Given the description of an element on the screen output the (x, y) to click on. 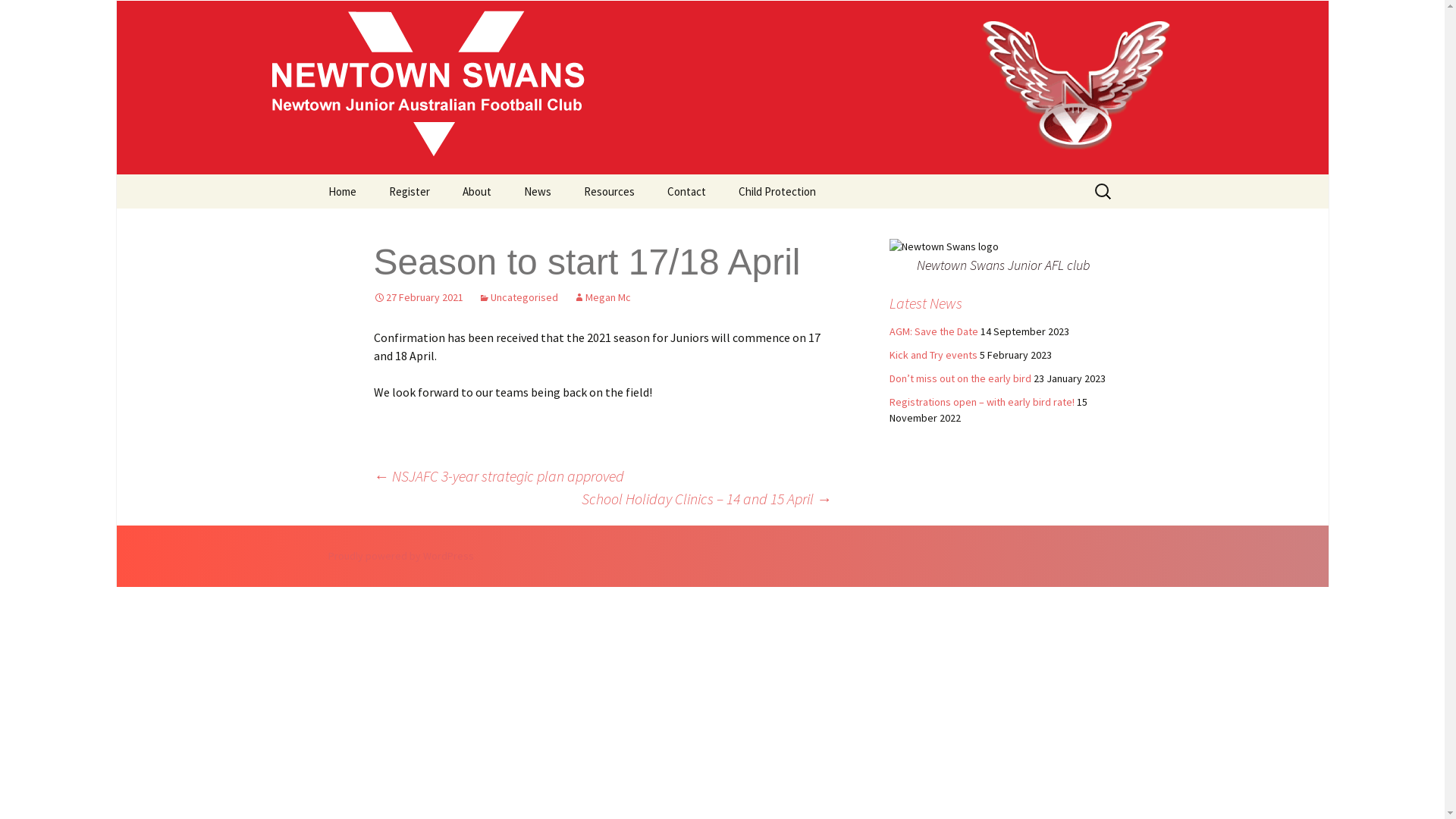
Volunteering Element type: text (644, 225)
Home Element type: text (341, 191)
Search Element type: text (18, 16)
Megan Mc Element type: text (601, 297)
AGM: Save the Date Element type: text (932, 331)
Contact Element type: text (686, 191)
Register Element type: text (408, 191)
27 February 2021 Element type: text (417, 297)
Proudly powered by WordPress Element type: text (400, 555)
Join our club Element type: text (523, 225)
Kick and Try events Element type: text (932, 354)
News Element type: text (536, 191)
Child Protection Element type: text (777, 191)
Skip to content Element type: text (312, 173)
About Element type: text (476, 191)
Resources Element type: text (608, 191)
Uncategorised Element type: text (517, 297)
